Given the description of an element on the screen output the (x, y) to click on. 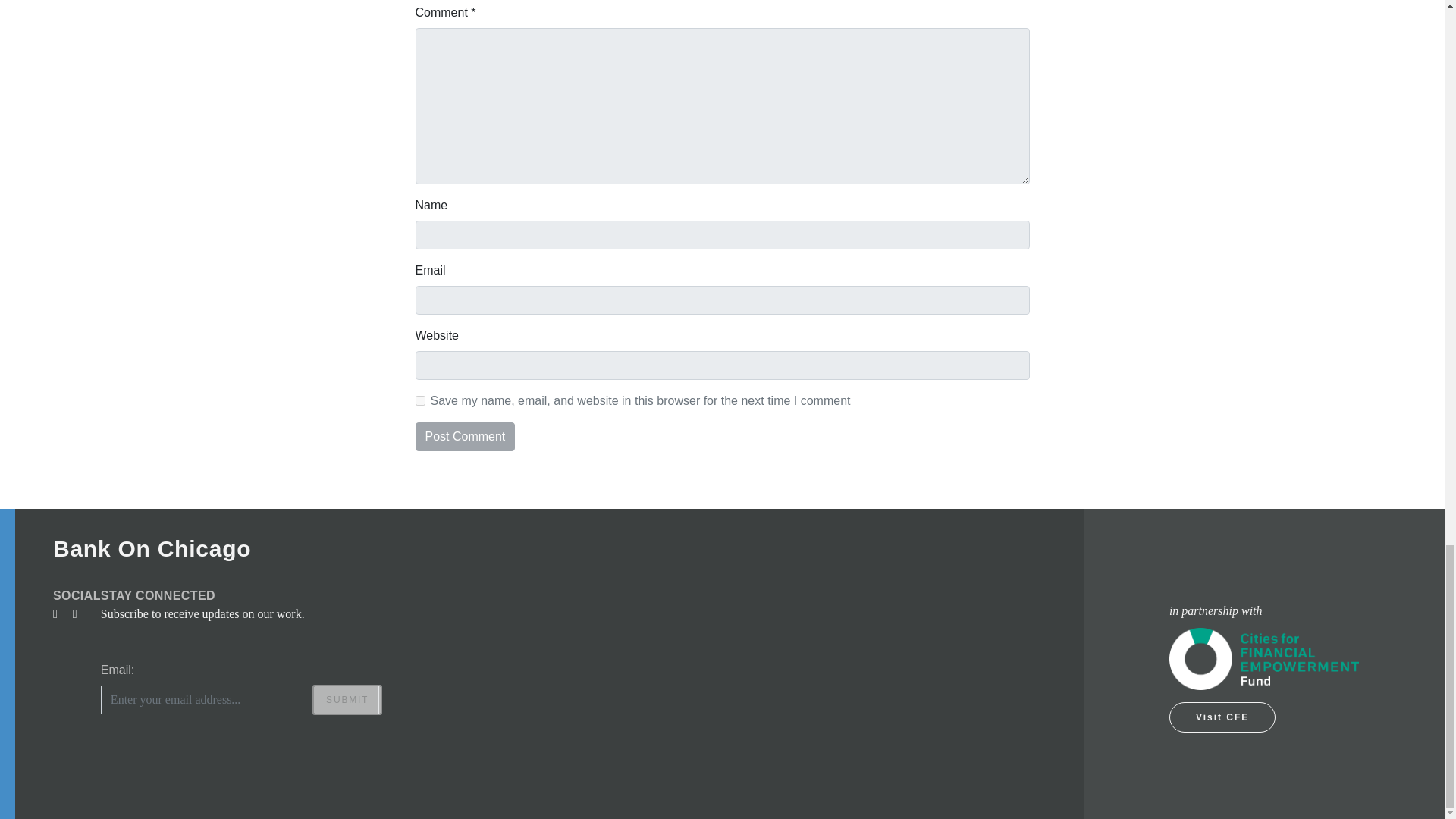
Visit CFE (1222, 716)
SUBMIT (347, 699)
yes (419, 400)
Post Comment (464, 436)
SUBMIT (347, 699)
Post Comment (464, 436)
